Given the description of an element on the screen output the (x, y) to click on. 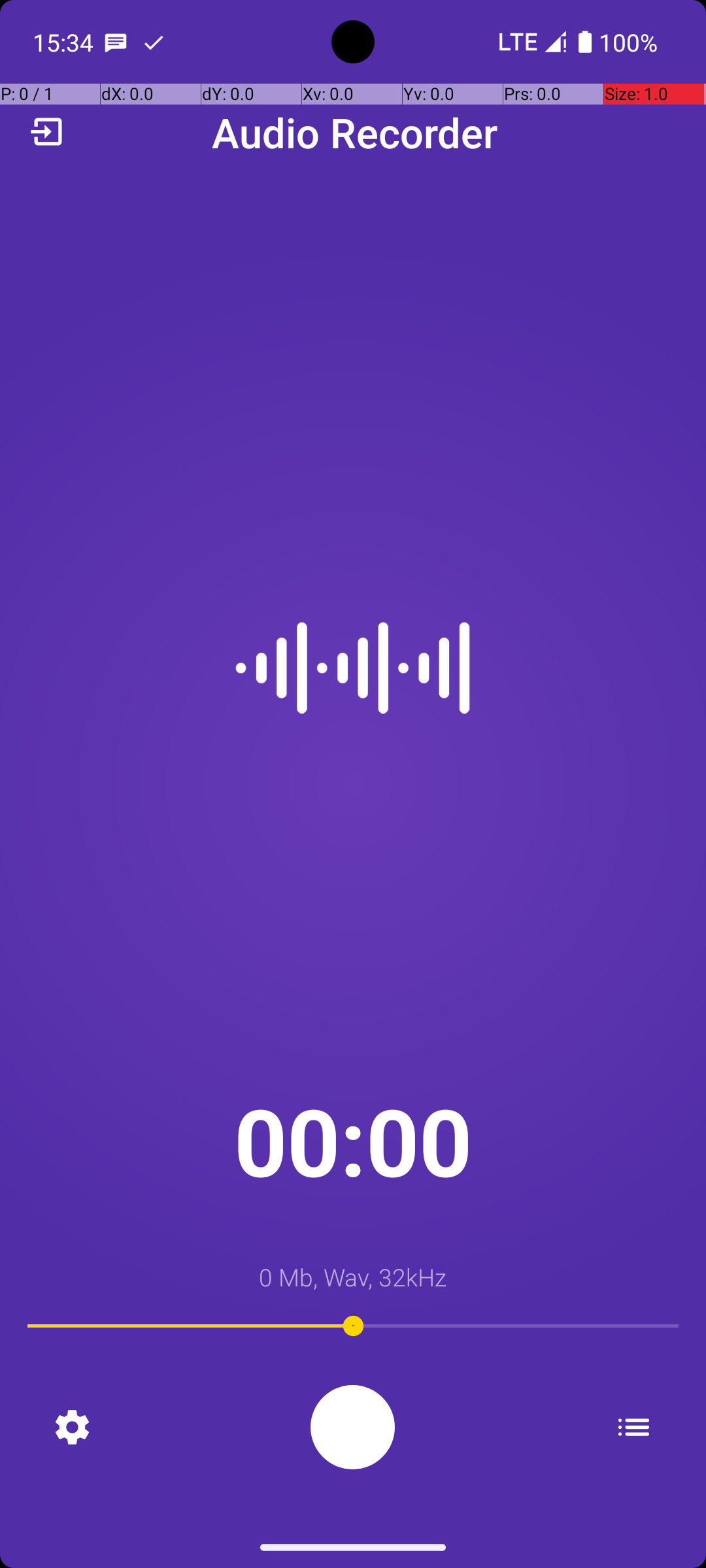
00:00 Element type: android.widget.TextView (352, 1140)
0 Mb, Wav, 32kHz Element type: android.widget.TextView (352, 1276)
Recording: %s Element type: android.widget.ImageButton (352, 1427)
SMS Messenger notification: Daniel Ali Element type: android.widget.ImageView (115, 41)
Contacts notification: Finished exporting contacts.vcf. Element type: android.widget.ImageView (153, 41)
